Given the description of an element on the screen output the (x, y) to click on. 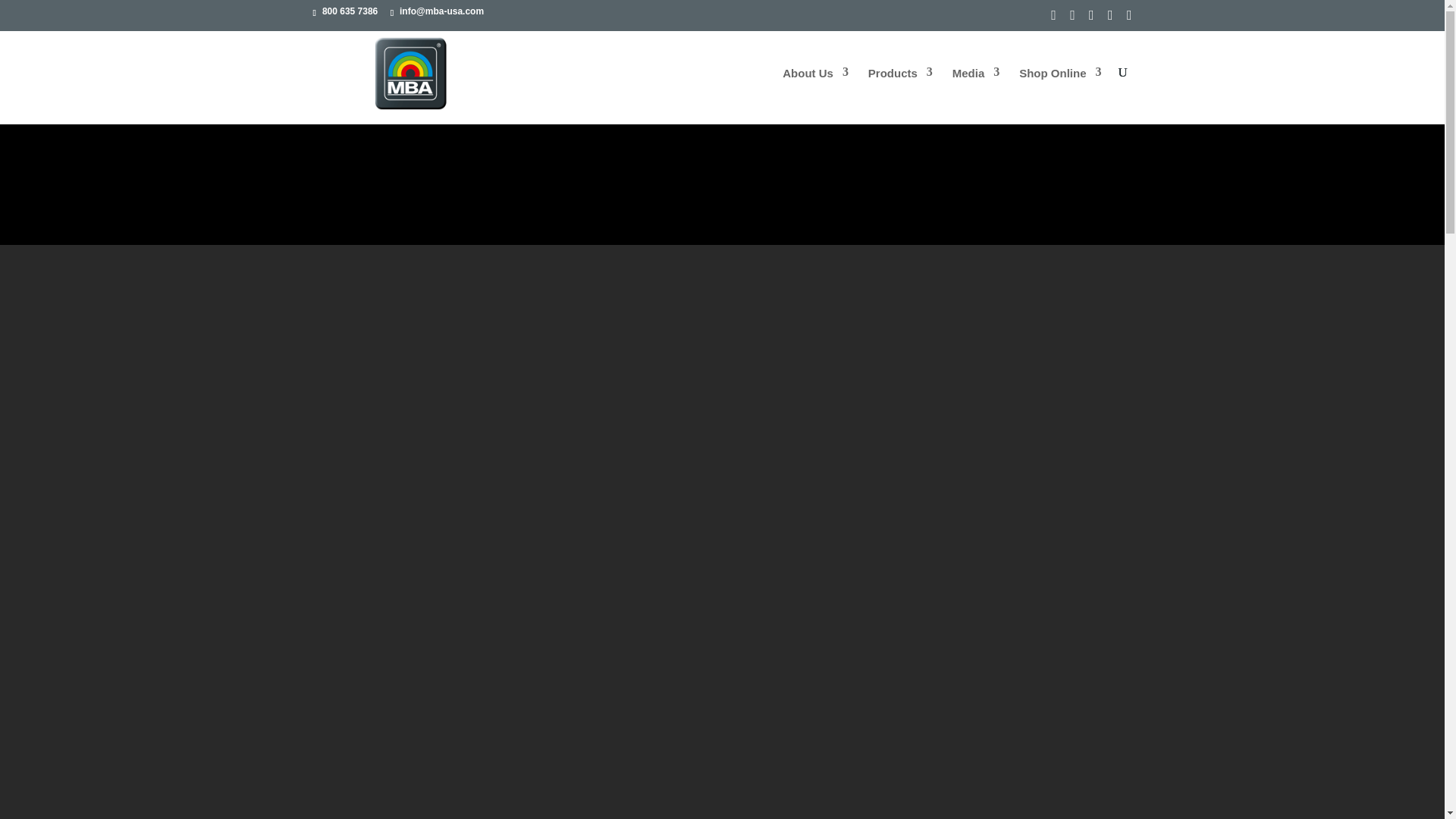
About Us (815, 95)
Products (900, 95)
Shop Online (1059, 95)
